Given the description of an element on the screen output the (x, y) to click on. 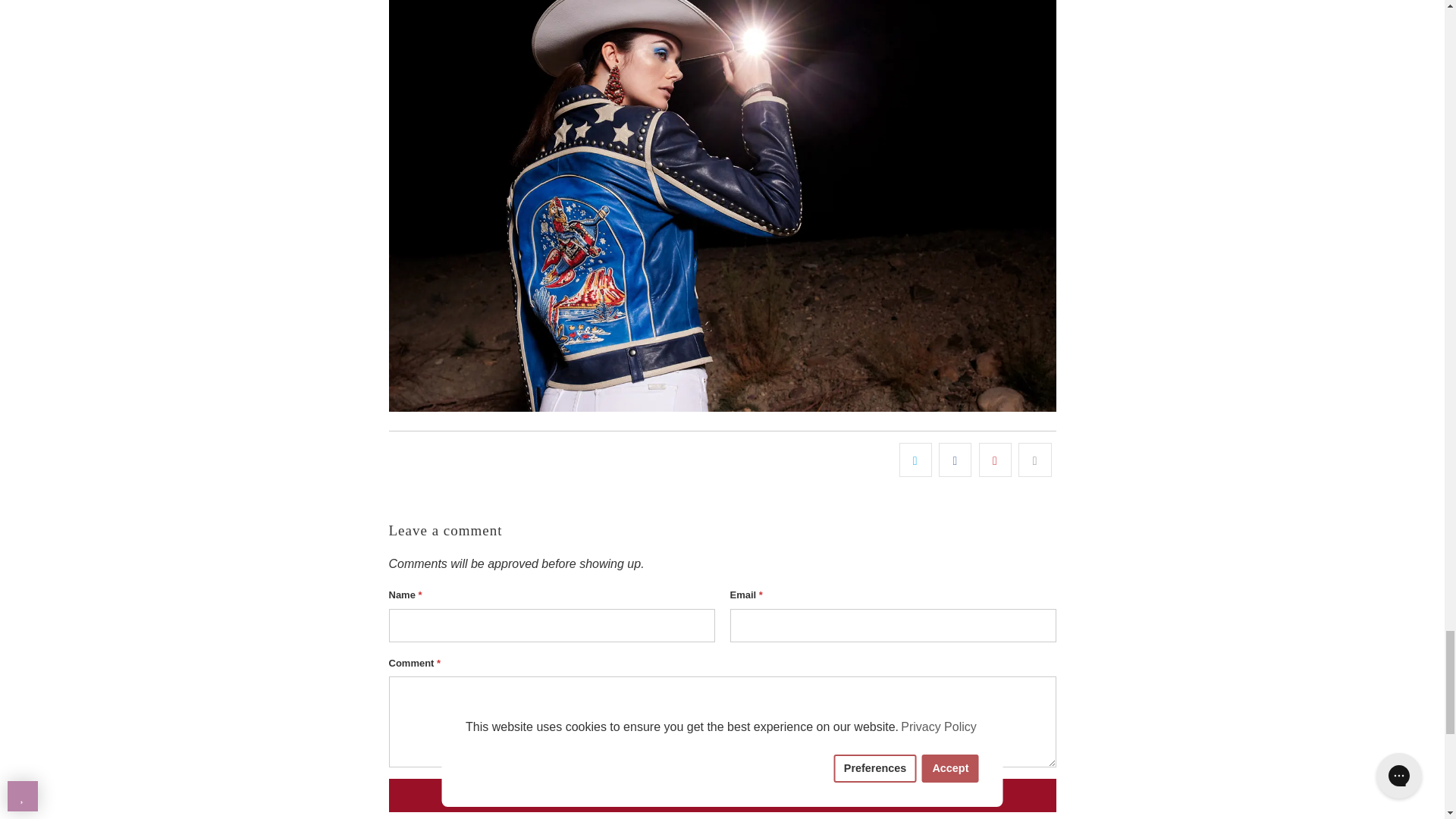
Post comment (721, 795)
